Given the description of an element on the screen output the (x, y) to click on. 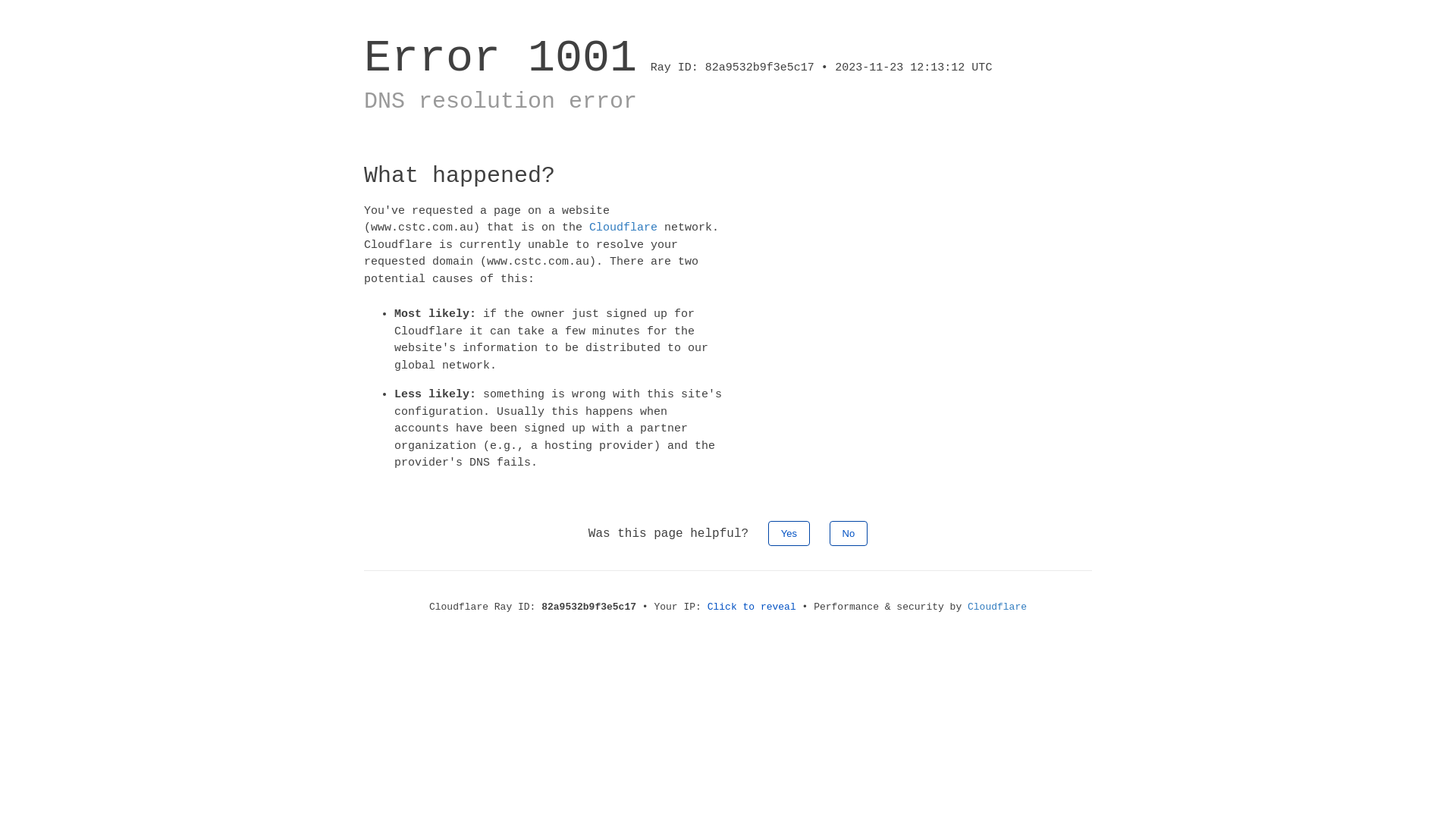
No Element type: text (848, 532)
Cloudflare Element type: text (996, 605)
Cloudflare Element type: text (623, 227)
Click to reveal Element type: text (751, 605)
Yes Element type: text (788, 532)
